Given the description of an element on the screen output the (x, y) to click on. 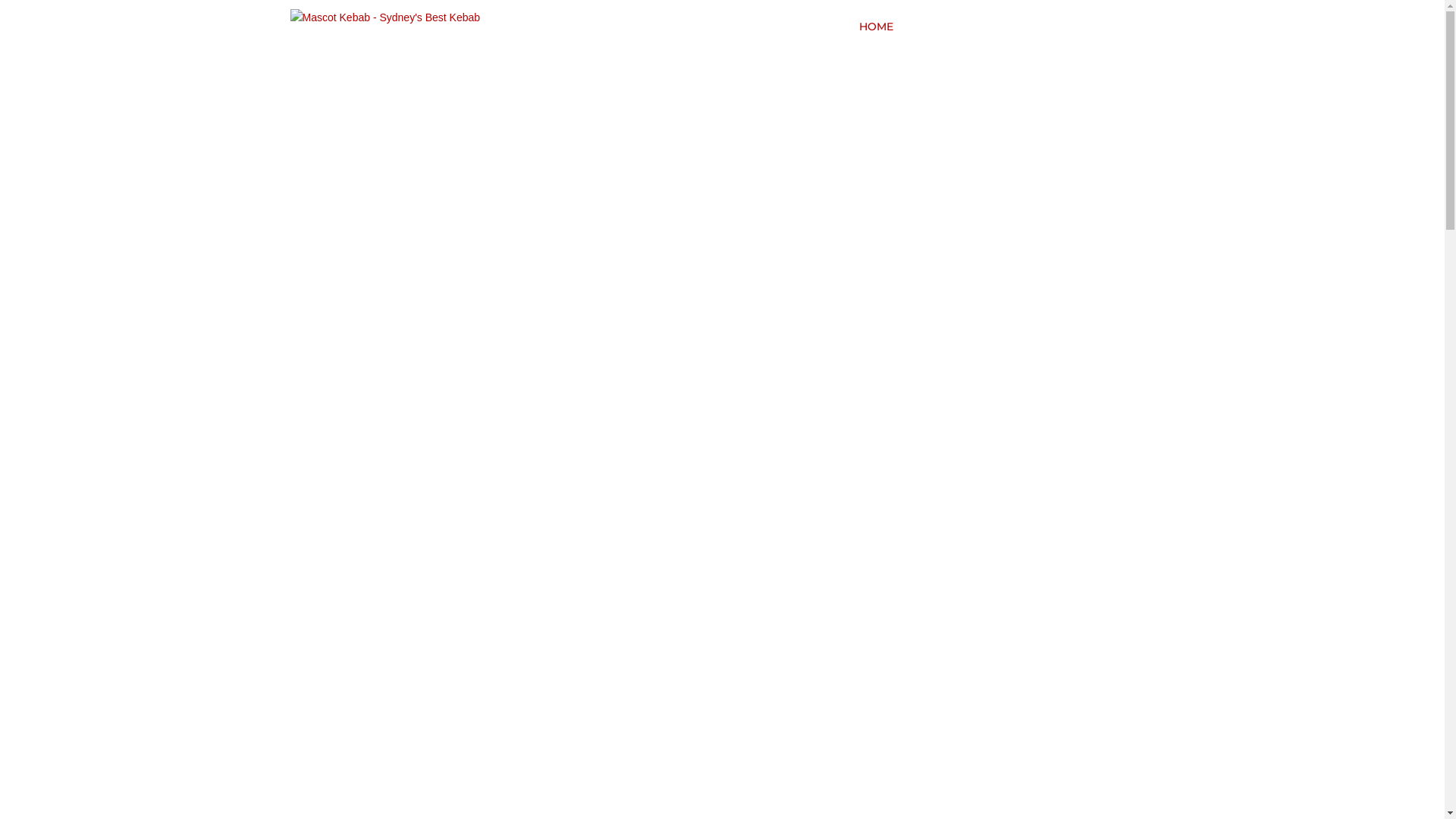
HOME Element type: text (875, 30)
MENU Element type: text (943, 30)
ABOUT US Element type: text (1022, 30)
CONTACT US Element type: text (1111, 30)
